Given the description of an element on the screen output the (x, y) to click on. 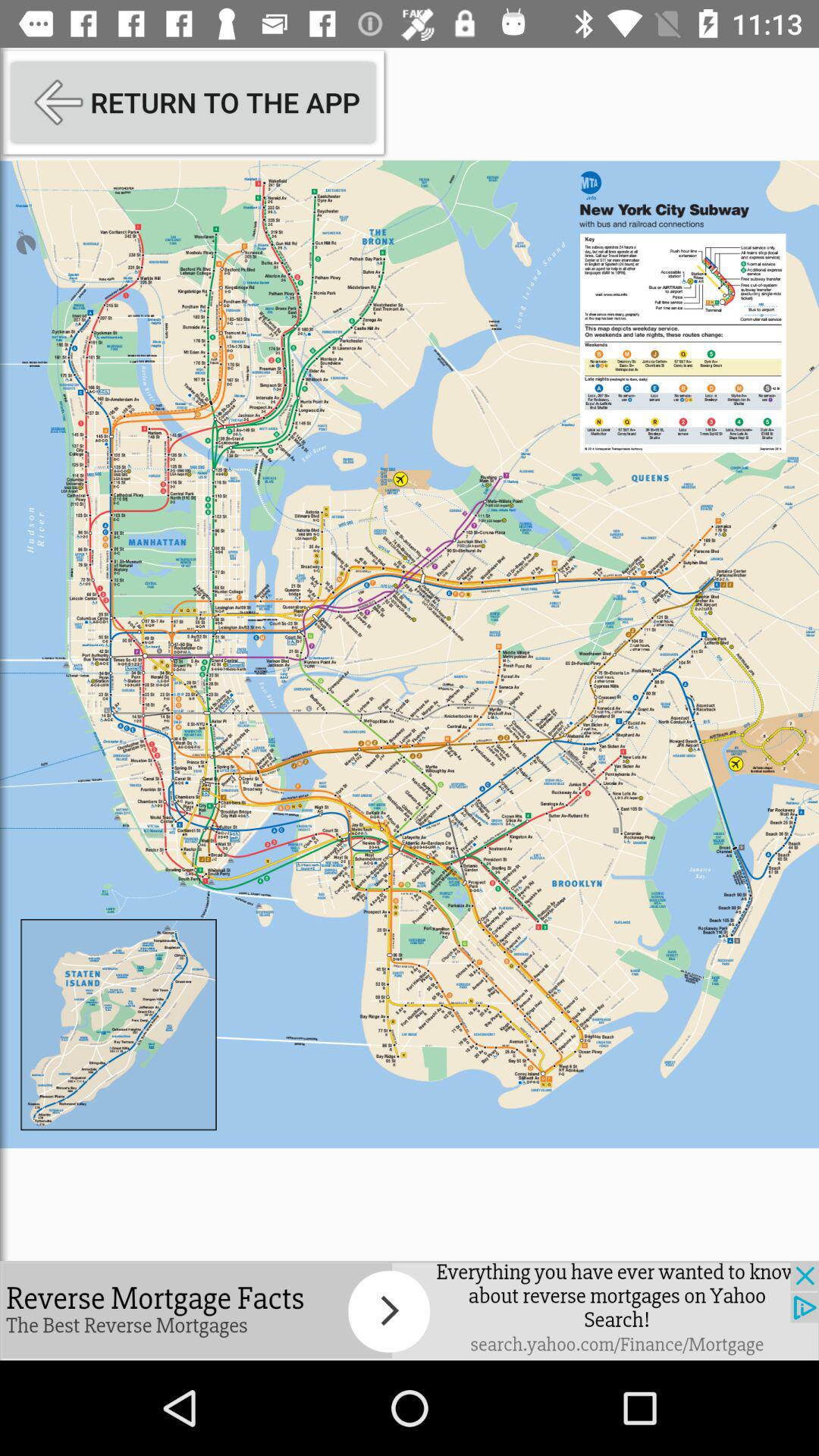
select full screen (409, 653)
